Given the description of an element on the screen output the (x, y) to click on. 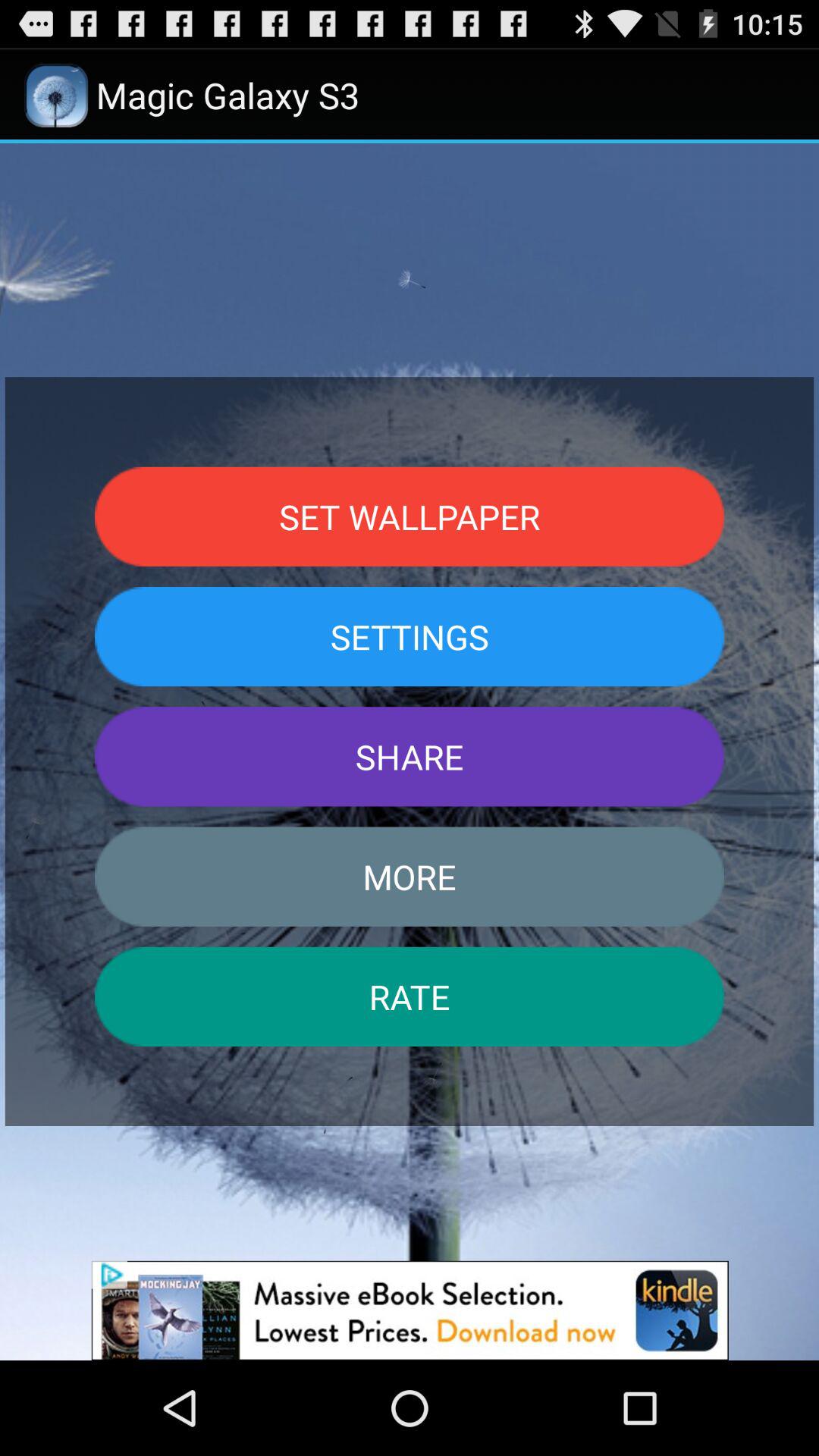
jump to rate (409, 996)
